Given the description of an element on the screen output the (x, y) to click on. 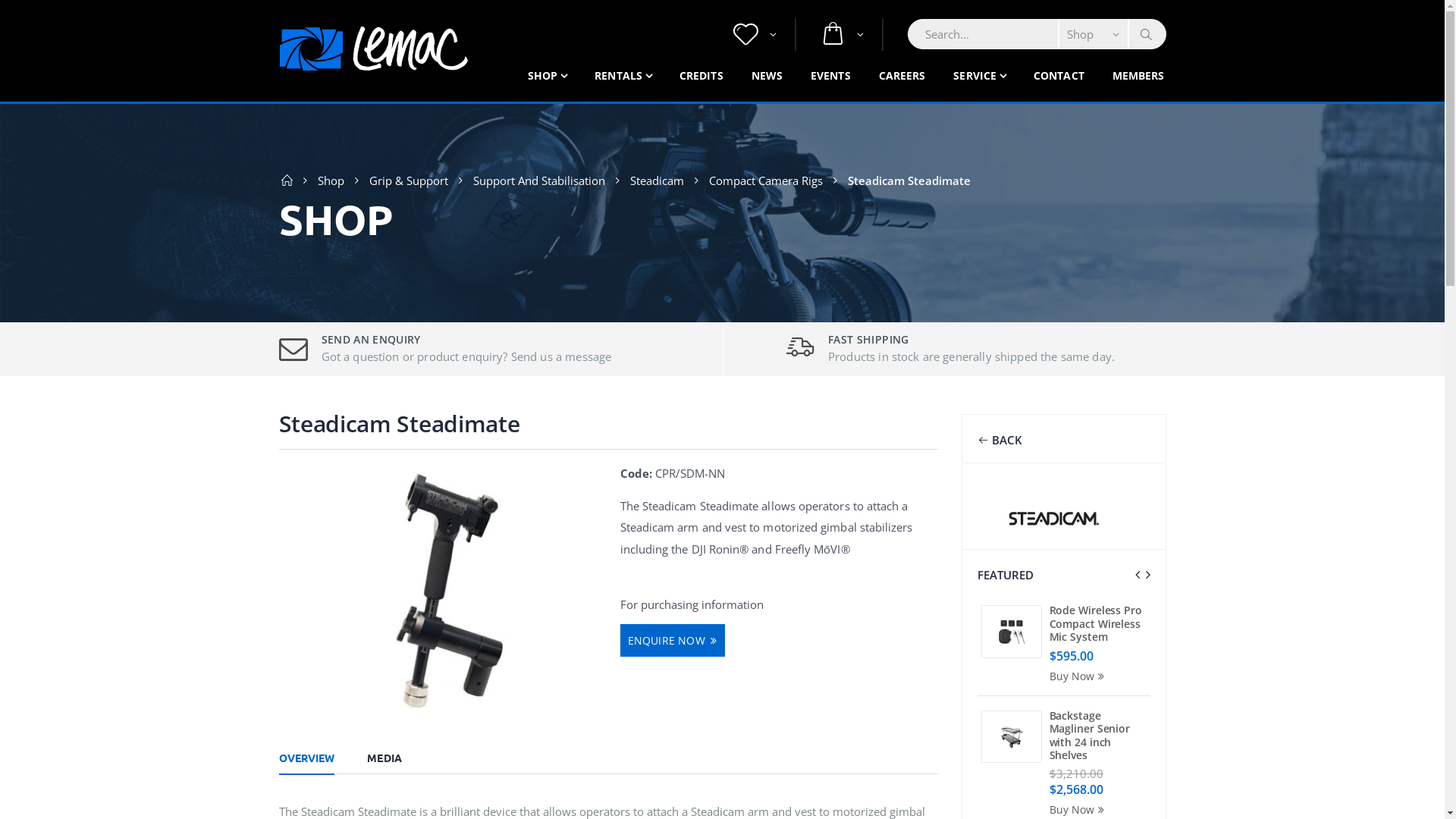
Steadicam Element type: text (656, 180)
RENTALS Element type: text (622, 75)
Rode Wireless Pro Compact Wireless Mic System Element type: text (1095, 622)
CREDITS Element type: text (700, 75)
Compact Camera Rigs Element type: text (765, 180)
OVERVIEW Element type: text (307, 758)
Buy Now Element type: text (1079, 676)
Grip & Support Element type: text (407, 180)
Backstage Magliner Senior with 24 inch Shelves Element type: text (1089, 735)
MEDIA Element type: text (384, 758)
SERVICE Element type: text (979, 75)
Support And Stabilisation Element type: text (539, 180)
NEWS Element type: text (766, 75)
Shop Element type: text (329, 180)
SHOP Element type: text (546, 75)
EVENTS Element type: text (830, 75)
CONTACT Element type: text (1058, 75)
MEMBERS Element type: text (1138, 75)
Buy Now Element type: text (1079, 809)
ENQUIRE NOW Element type: text (672, 640)
CAREERS Element type: text (902, 75)
